Given the description of an element on the screen output the (x, y) to click on. 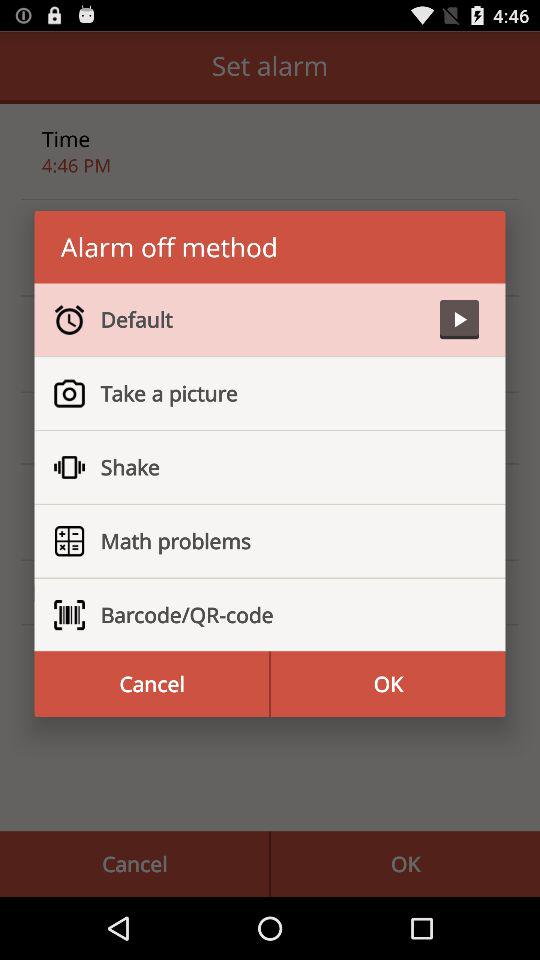
turn off item above the shake icon (281, 393)
